Given the description of an element on the screen output the (x, y) to click on. 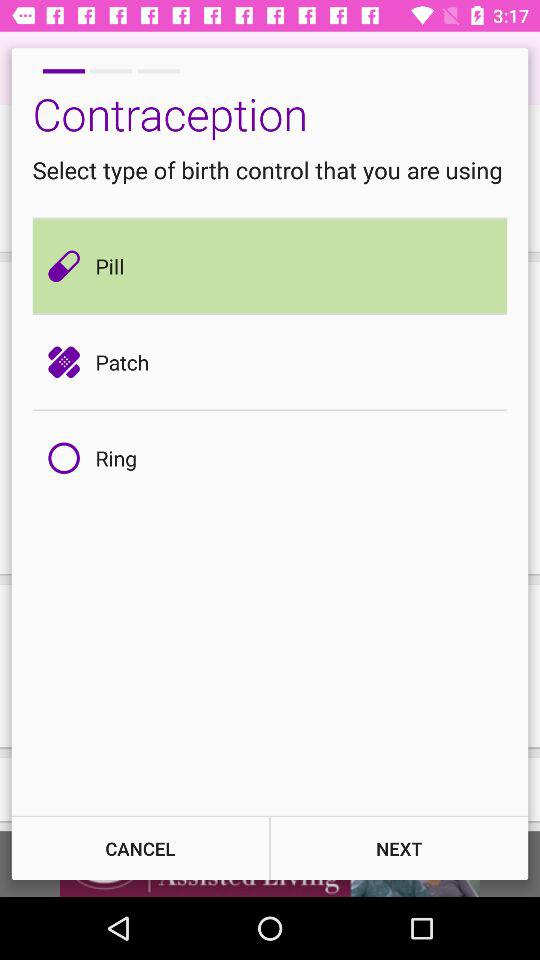
click the next icon (399, 848)
